Given the description of an element on the screen output the (x, y) to click on. 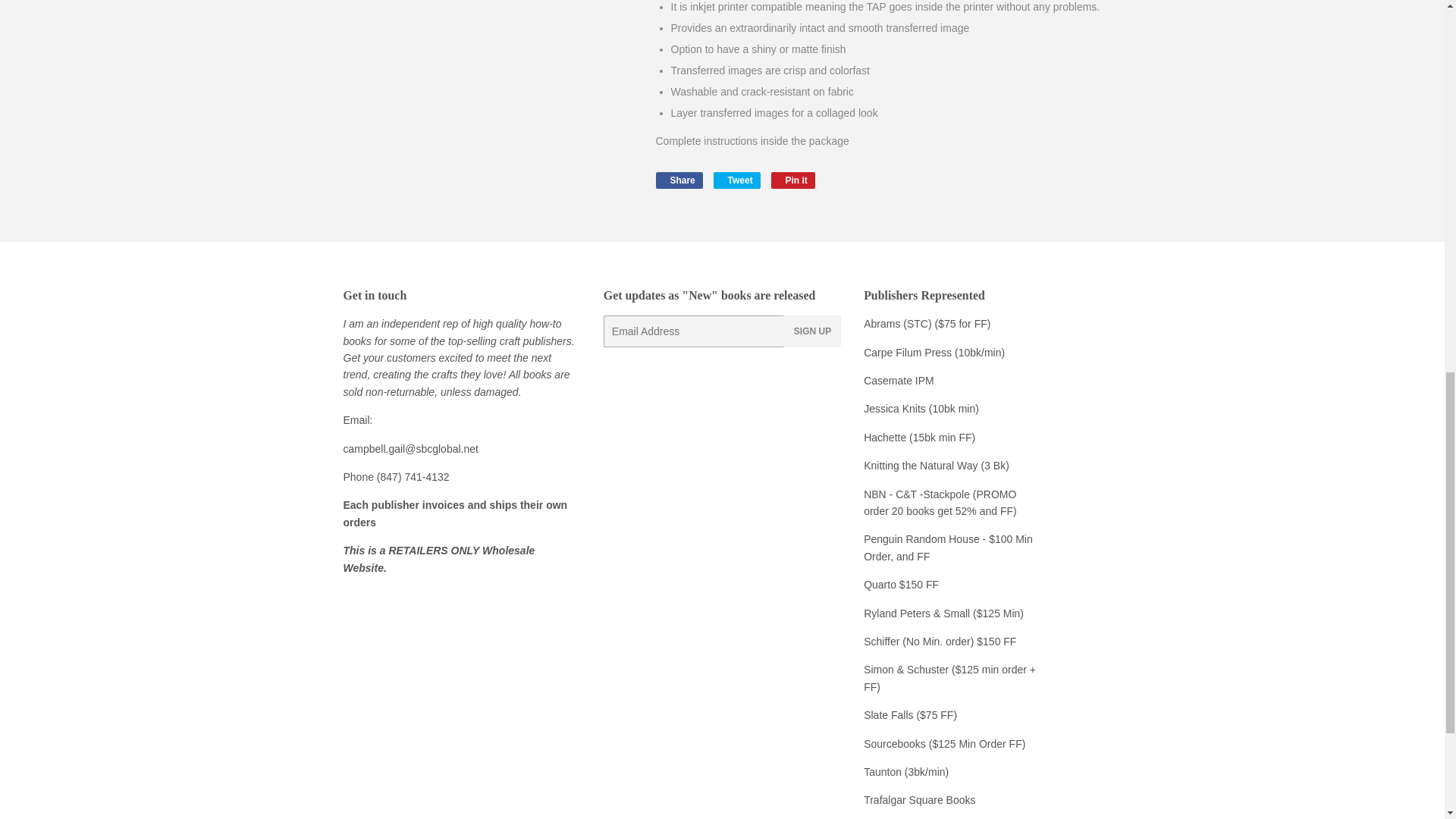
Casemate IPM (898, 380)
Knitting the Natural Way (919, 465)
SIGN UP (812, 331)
Penguin Random House (793, 180)
Quarto (921, 539)
Carpe Filum Press (881, 584)
Knitting the Natural Way (907, 352)
Pin on Pinterest (919, 465)
Hachette (793, 180)
Sourcebooks (884, 437)
Share on Facebook (678, 180)
Tweet on Twitter (944, 743)
